Given the description of an element on the screen output the (x, y) to click on. 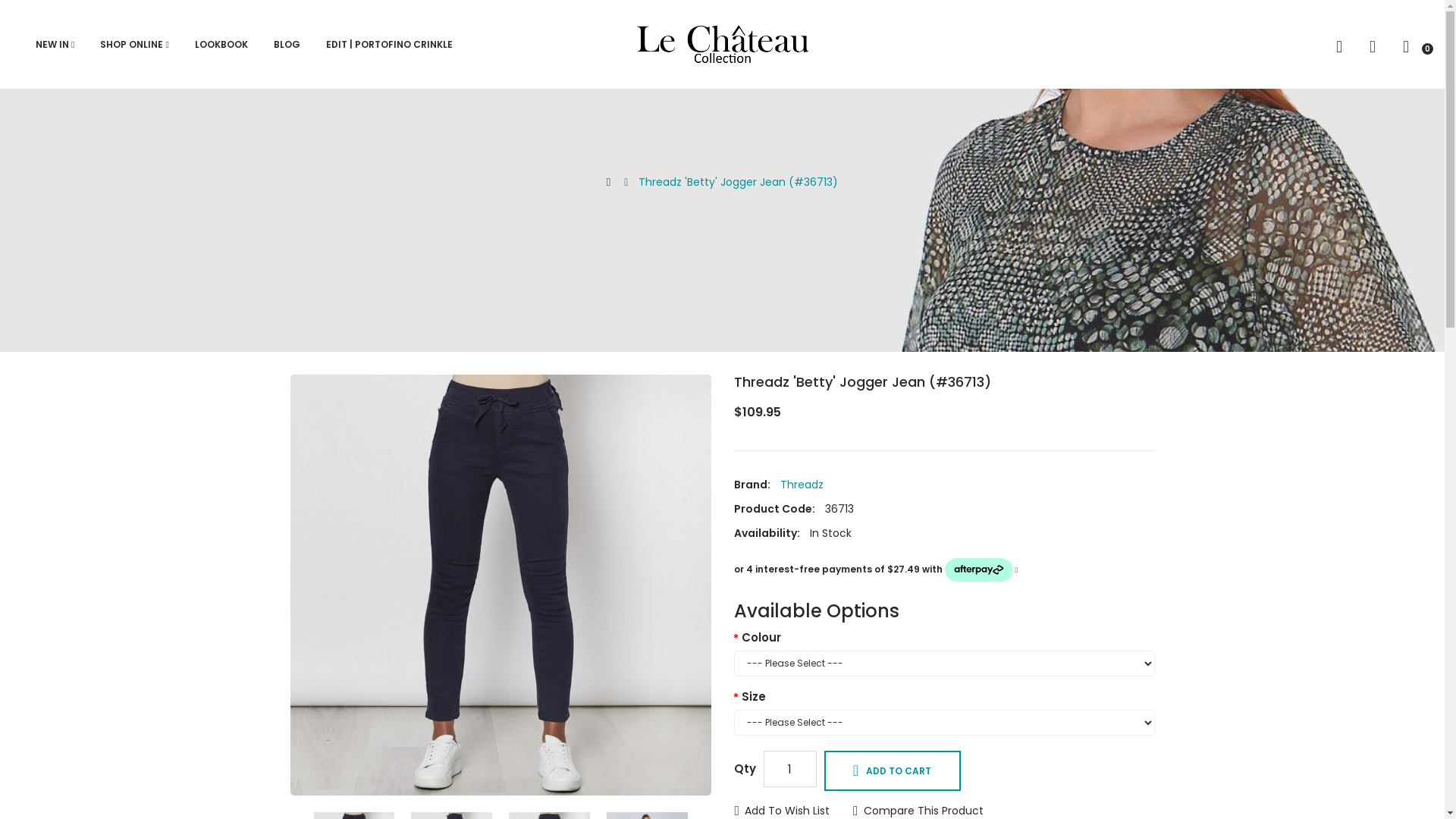
0 Element type: text (1411, 45)
Threadz 'Betty' Jogger Jean (#36713) Element type: text (737, 181)
LOOKBOOK Element type: text (221, 44)
SHOP ONLINE Element type: text (134, 44)
NEW IN Element type: text (54, 44)
Threadz 'Betty' Jogger Jean (#36713) Element type: hover (499, 584)
EDIT | PORTOFINO CRINKLE Element type: text (389, 44)
ADD TO CART Element type: text (891, 770)
Threadz Element type: text (800, 484)
BLOG Element type: text (286, 44)
